Given the description of an element on the screen output the (x, y) to click on. 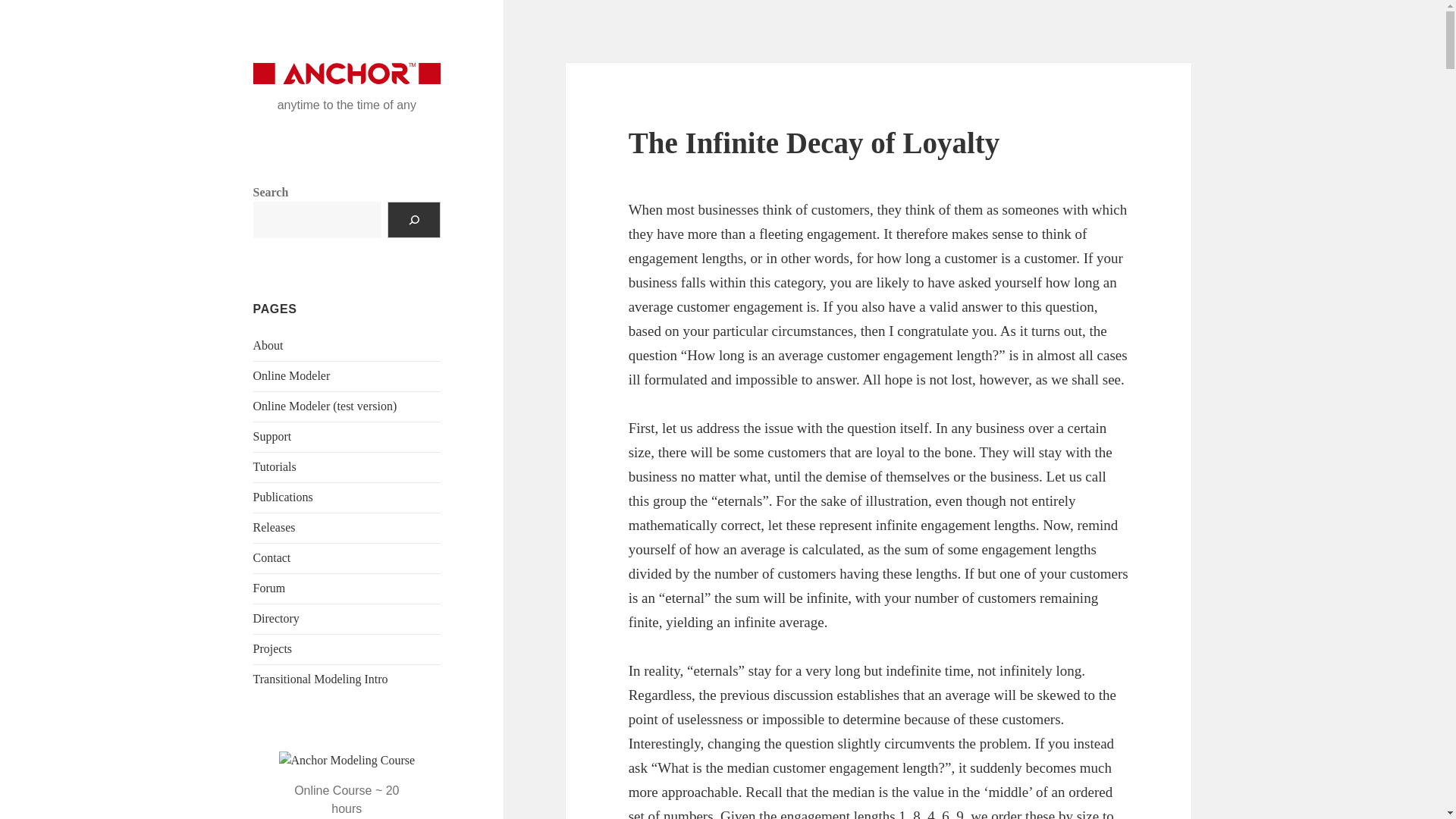
Projects (272, 648)
Releases (274, 526)
Directory (276, 617)
Forum (269, 587)
Publications (283, 496)
Tutorials (275, 466)
Support (272, 436)
Anchor Modeling (336, 74)
About (268, 345)
Contact (272, 557)
